Given the description of an element on the screen output the (x, y) to click on. 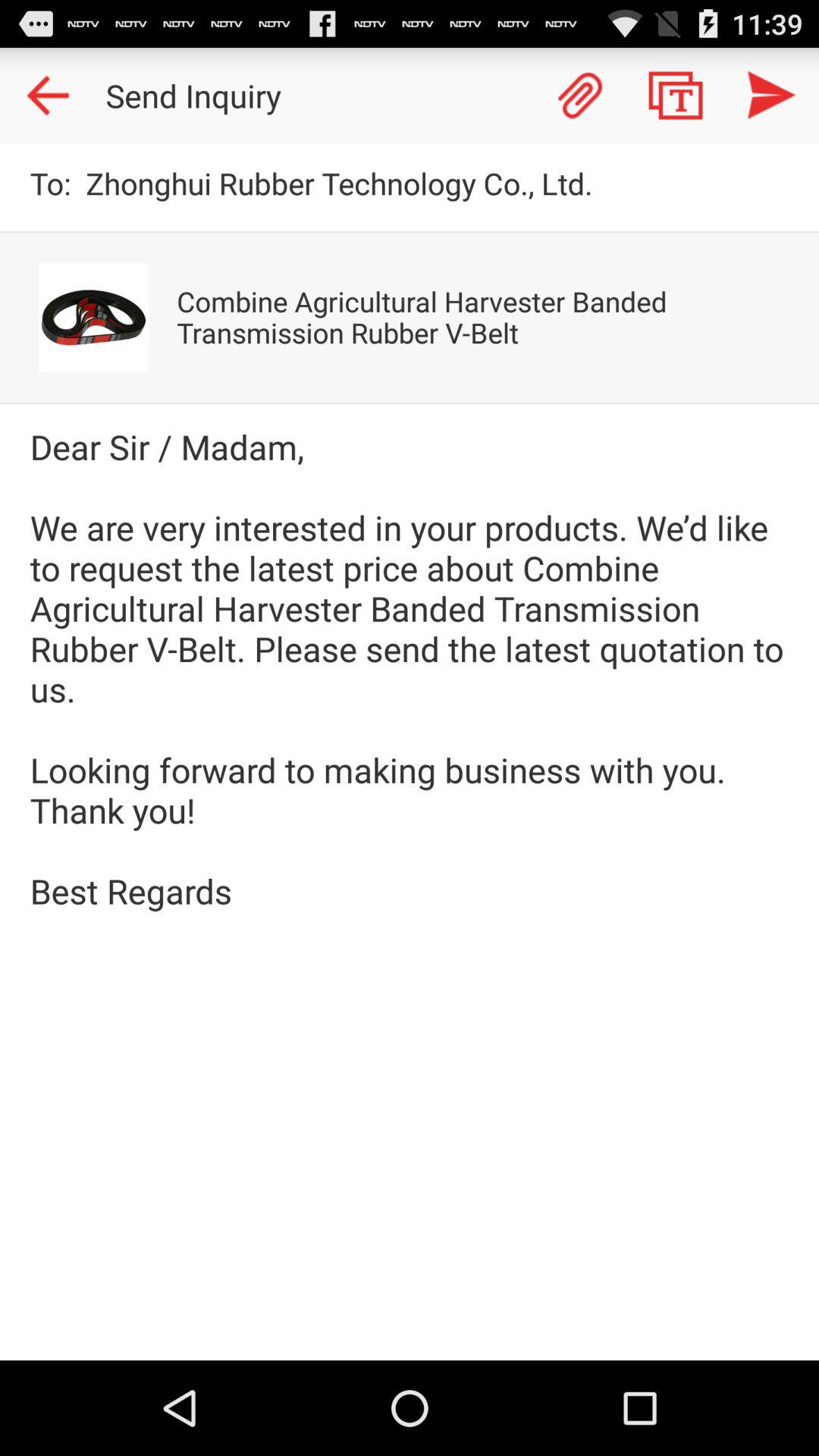
add text (675, 95)
